Given the description of an element on the screen output the (x, y) to click on. 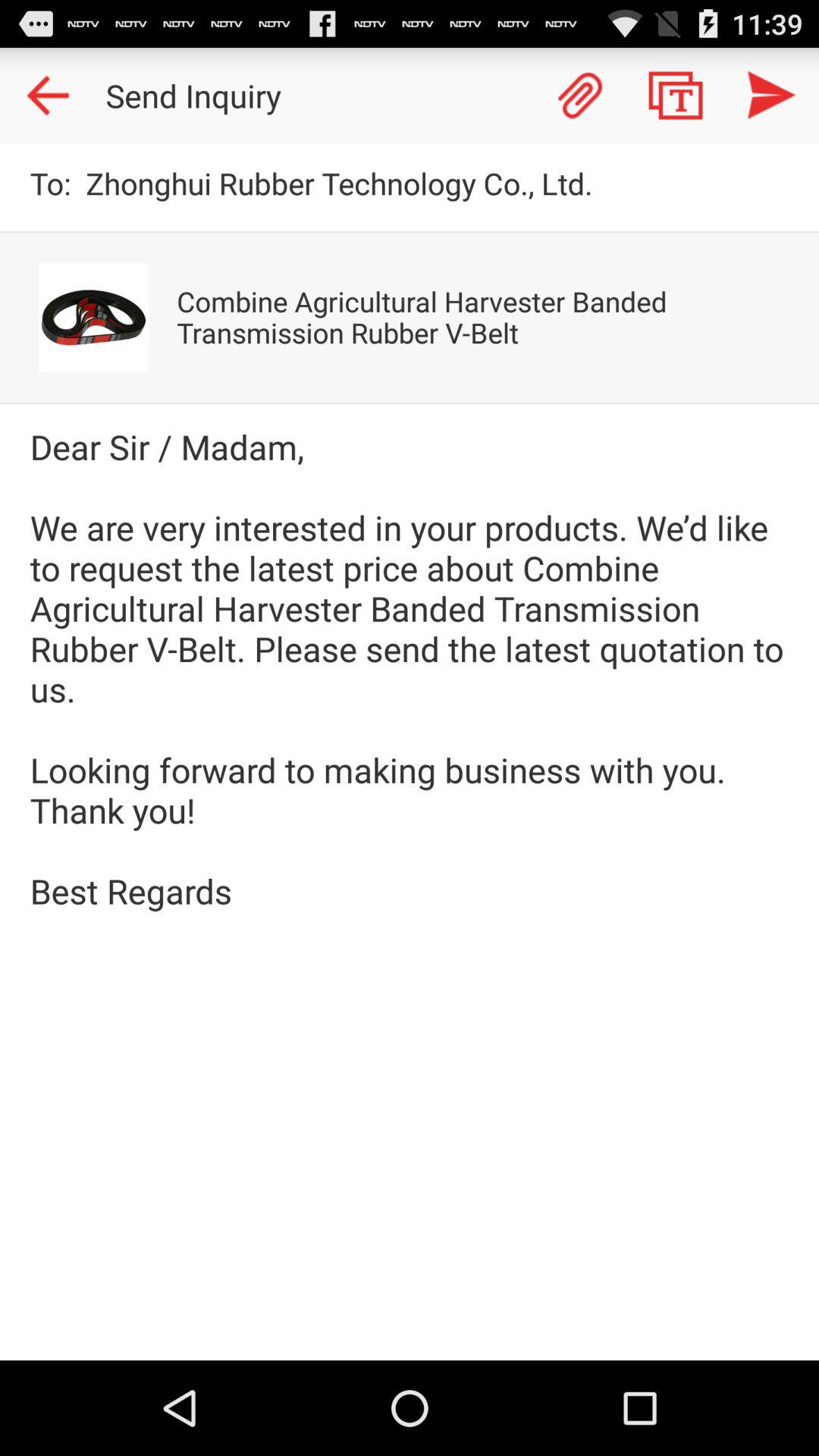
add text (675, 95)
